Given the description of an element on the screen output the (x, y) to click on. 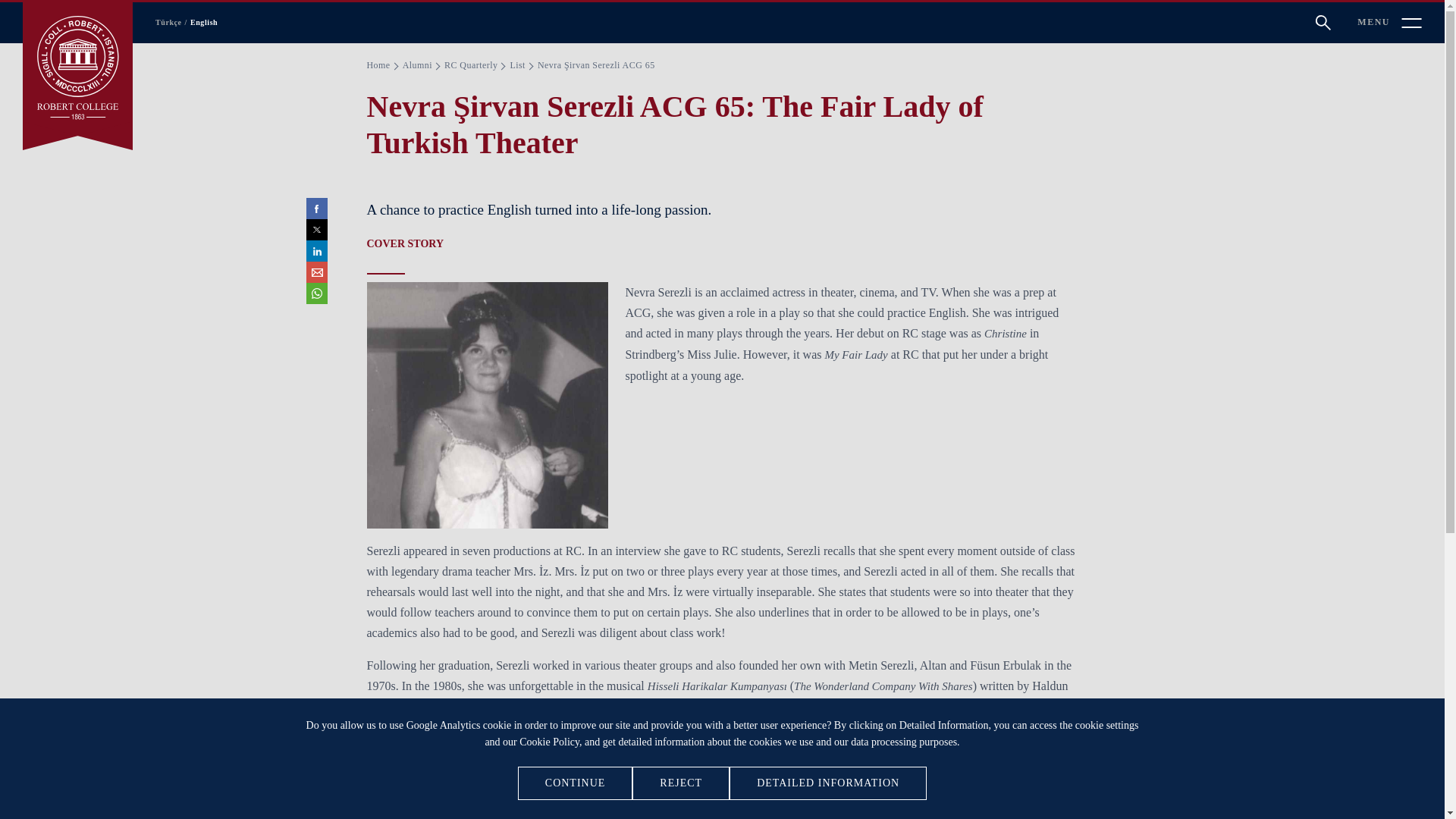
DETAILED INFORMATION (827, 783)
Home (378, 65)
English (200, 22)
Alumni (417, 65)
RC Quarterly (470, 65)
MENU (1389, 22)
